Given the description of an element on the screen output the (x, y) to click on. 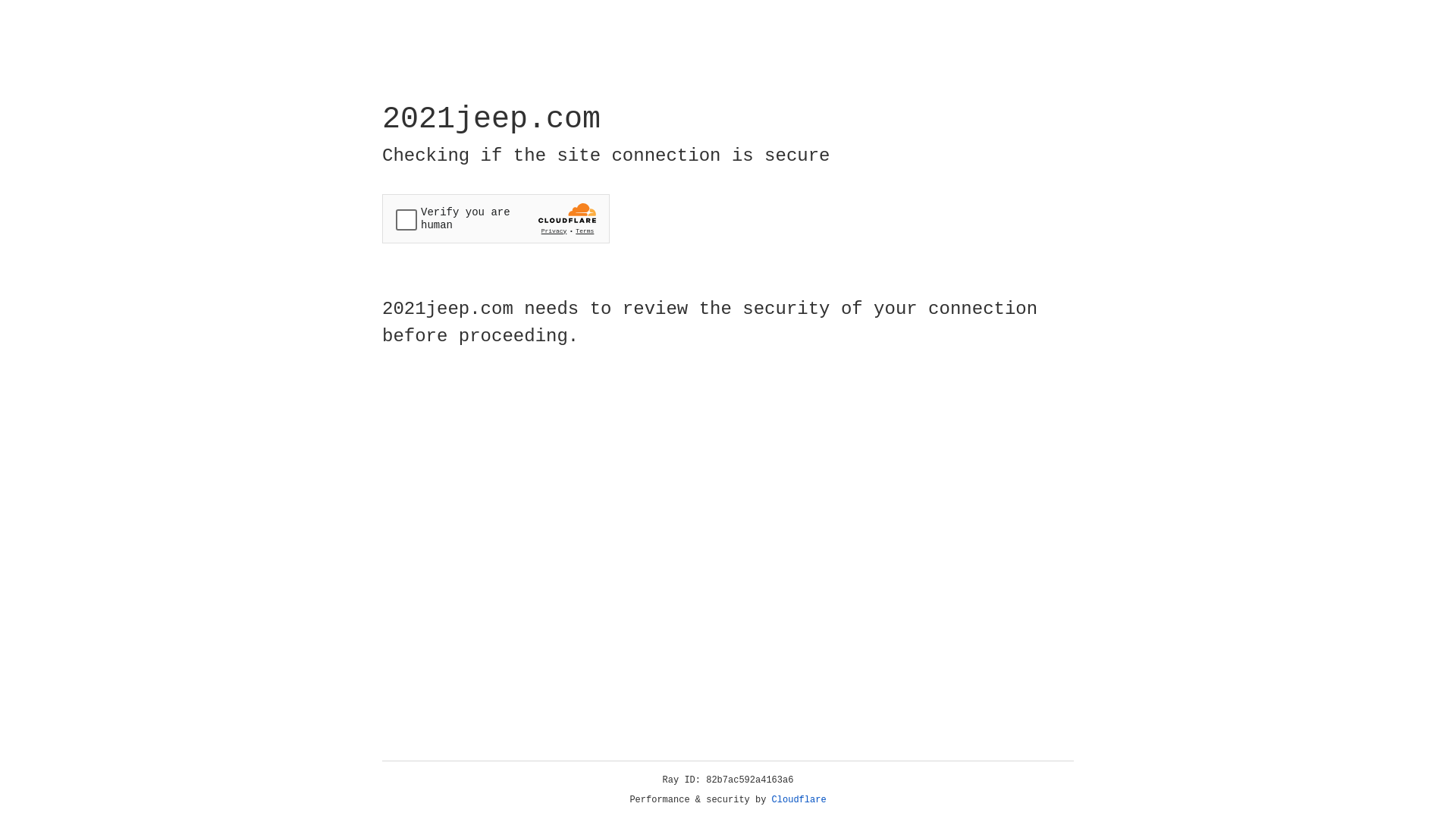
Cloudflare Element type: text (798, 799)
Widget containing a Cloudflare security challenge Element type: hover (495, 218)
